Given the description of an element on the screen output the (x, y) to click on. 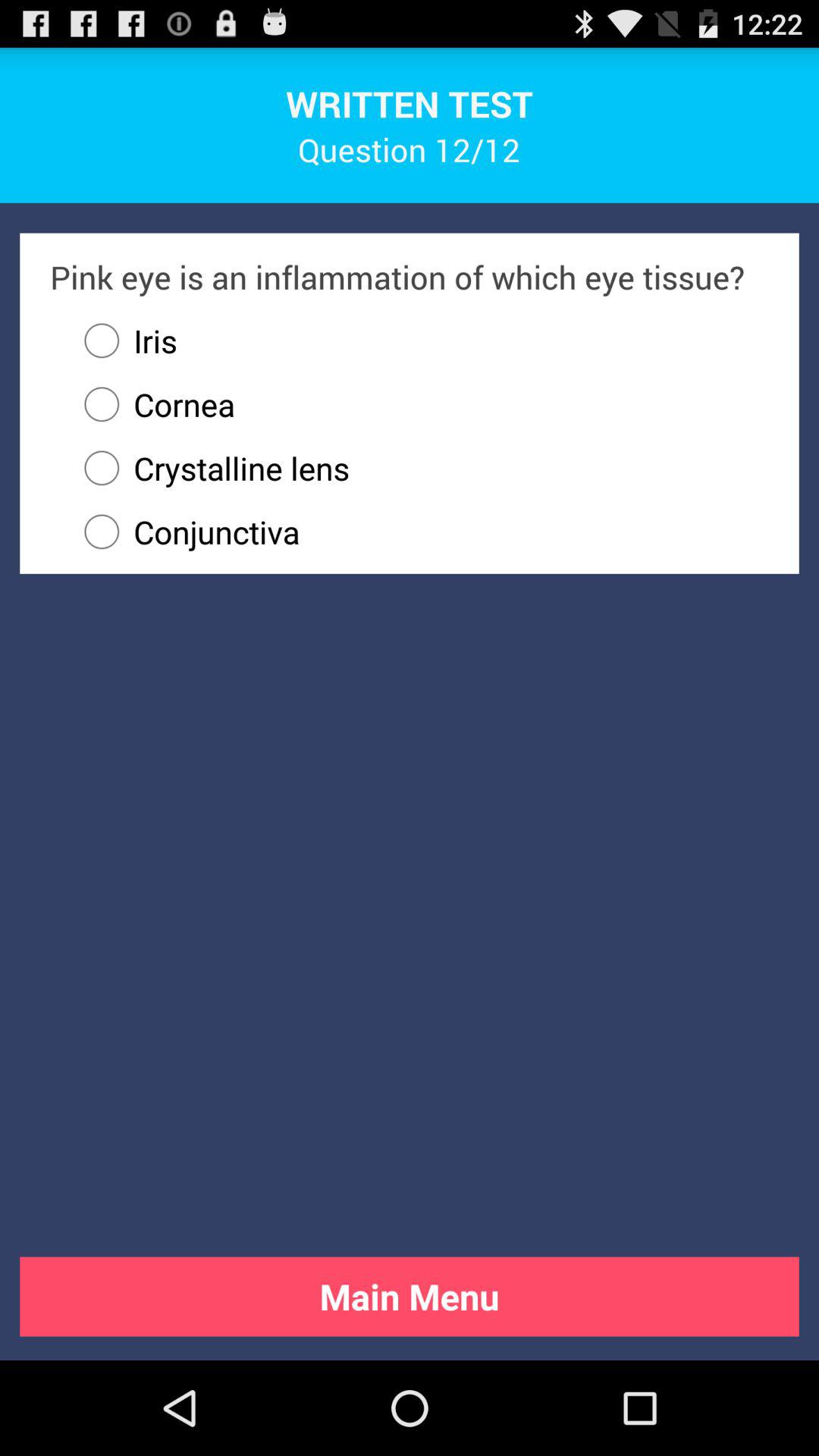
press the cornea item (151, 404)
